Given the description of an element on the screen output the (x, y) to click on. 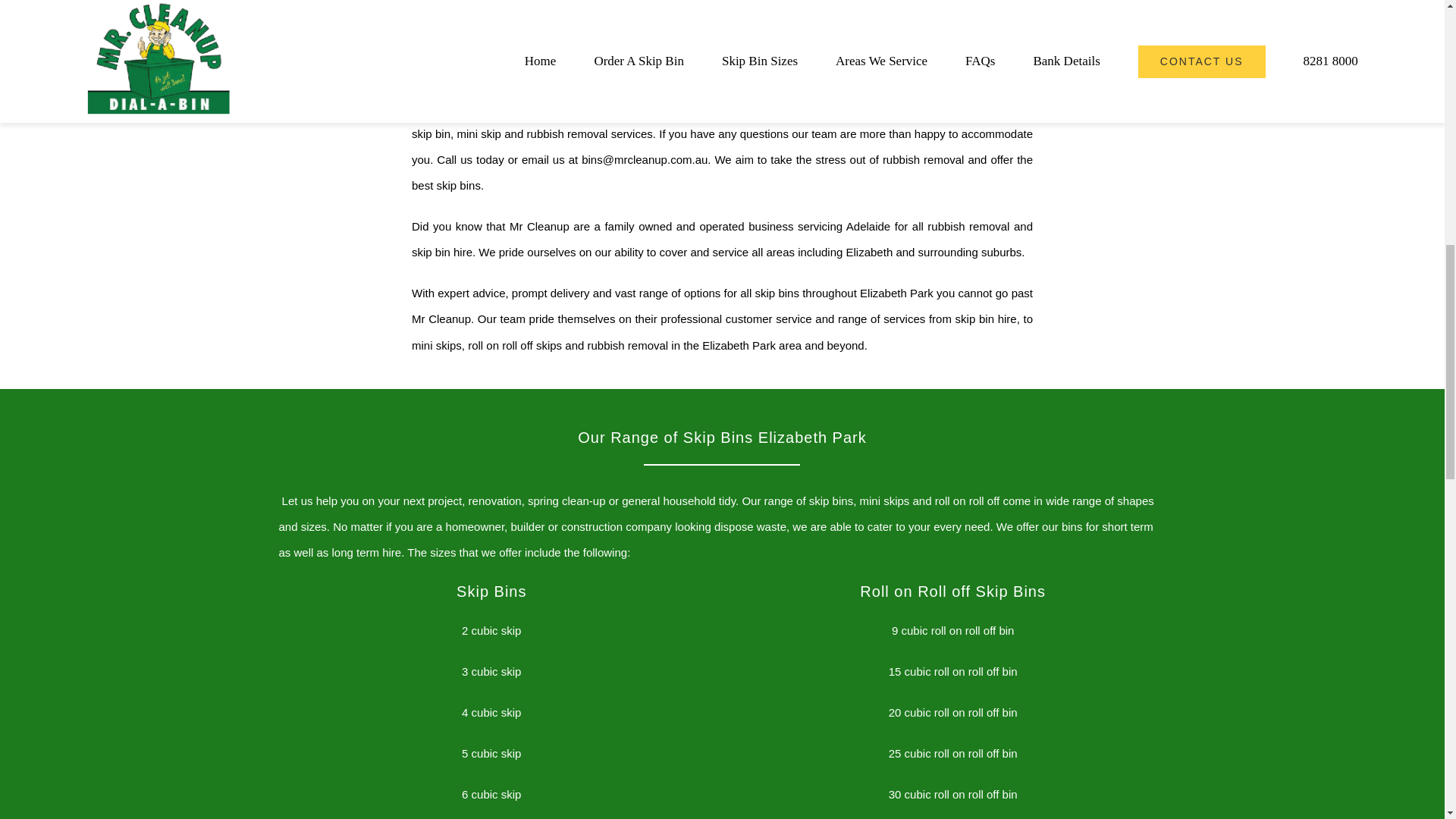
Mr Cleanup (671, 107)
